Given the description of an element on the screen output the (x, y) to click on. 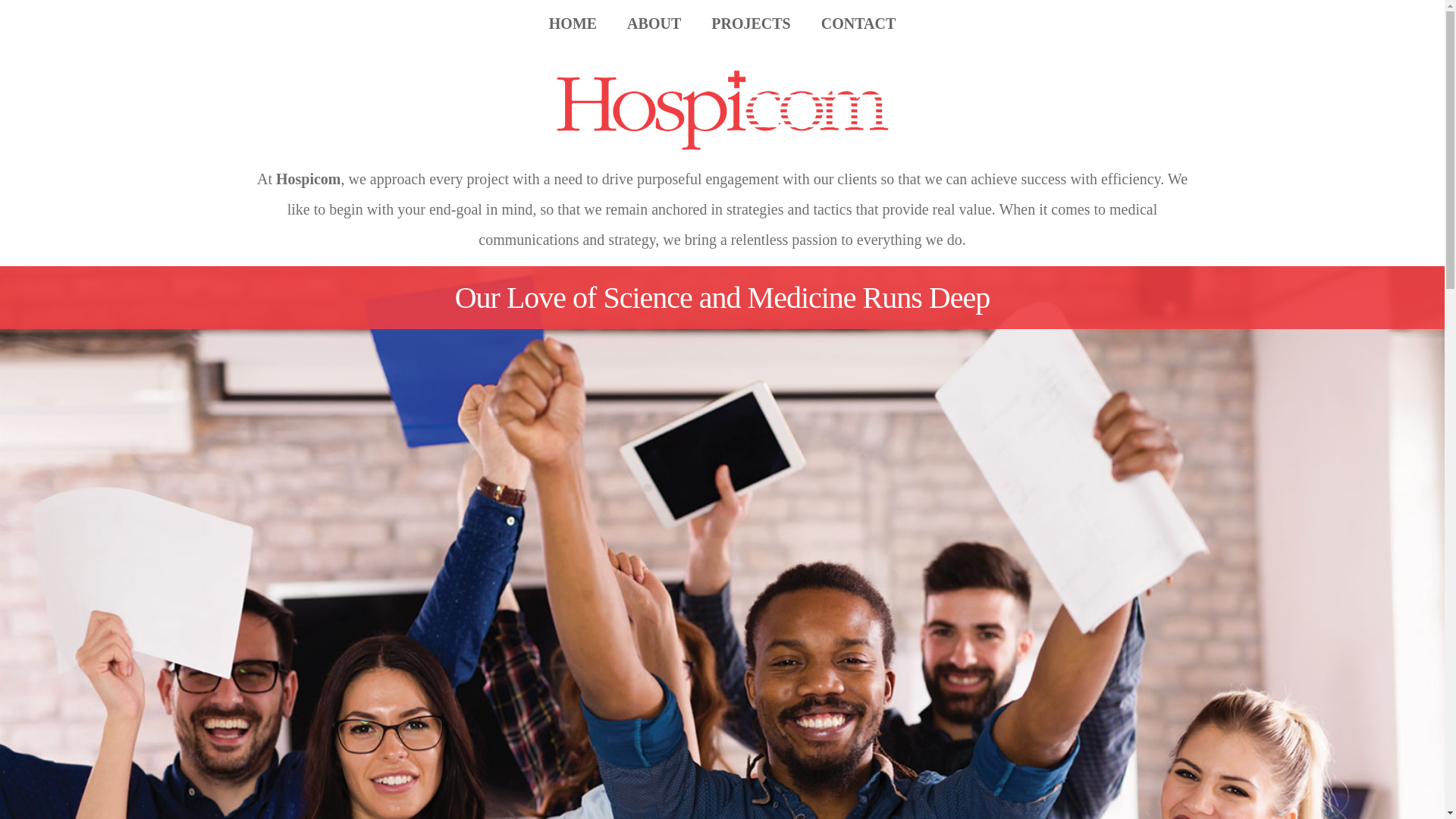
CONTACT (858, 23)
Contact (858, 23)
Projects (750, 23)
Home (572, 23)
PROJECTS (750, 23)
About (654, 23)
HOME (572, 23)
ABOUT (654, 23)
